Given the description of an element on the screen output the (x, y) to click on. 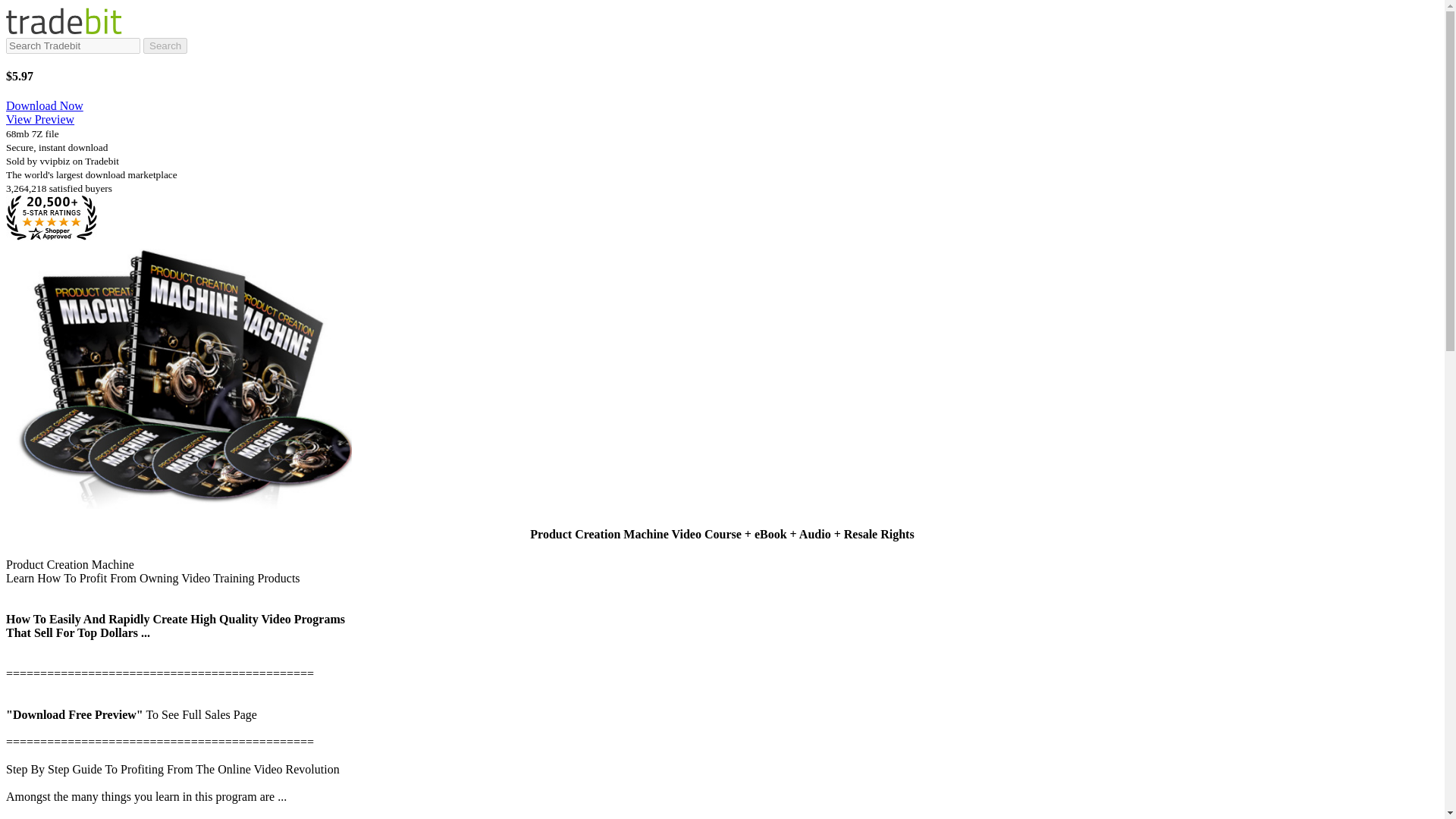
Download Now (43, 105)
View Preview (39, 119)
Search (164, 45)
